Given the description of an element on the screen output the (x, y) to click on. 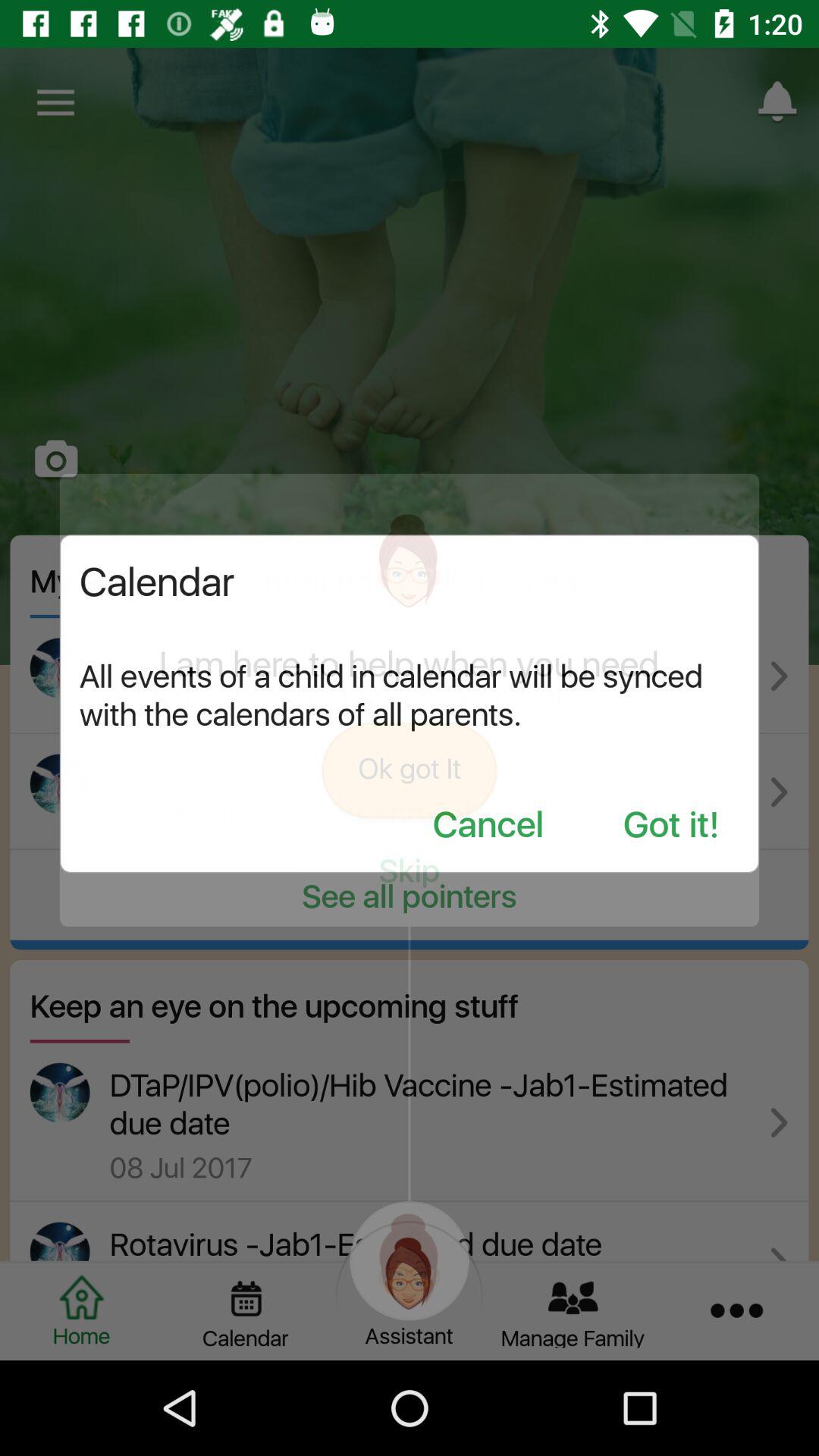
open the cancel (487, 826)
